Given the description of an element on the screen output the (x, y) to click on. 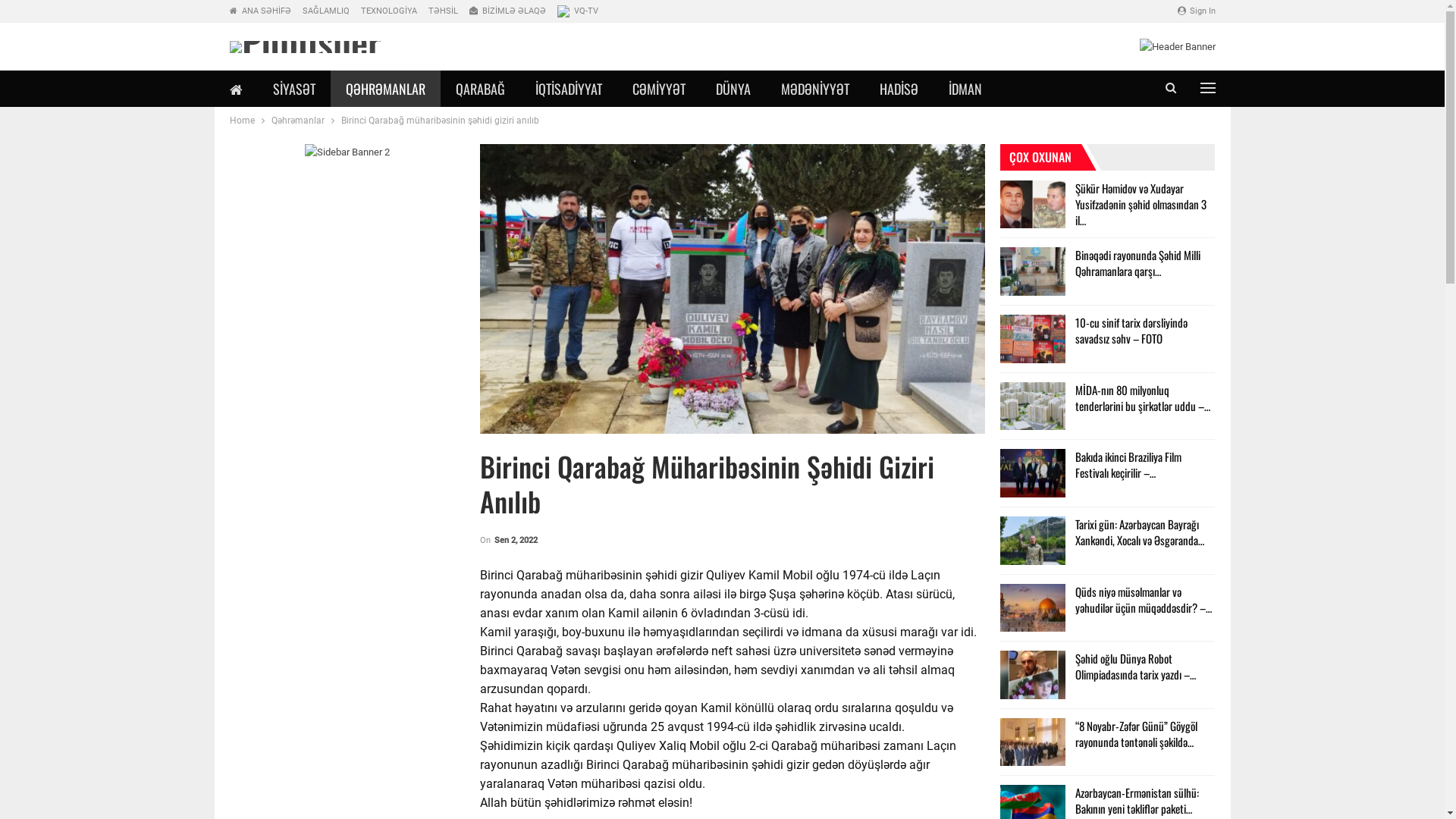
Sign In Element type: text (1195, 11)
Home Element type: text (241, 120)
VQ-TV Element type: text (576, 10)
